Given the description of an element on the screen output the (x, y) to click on. 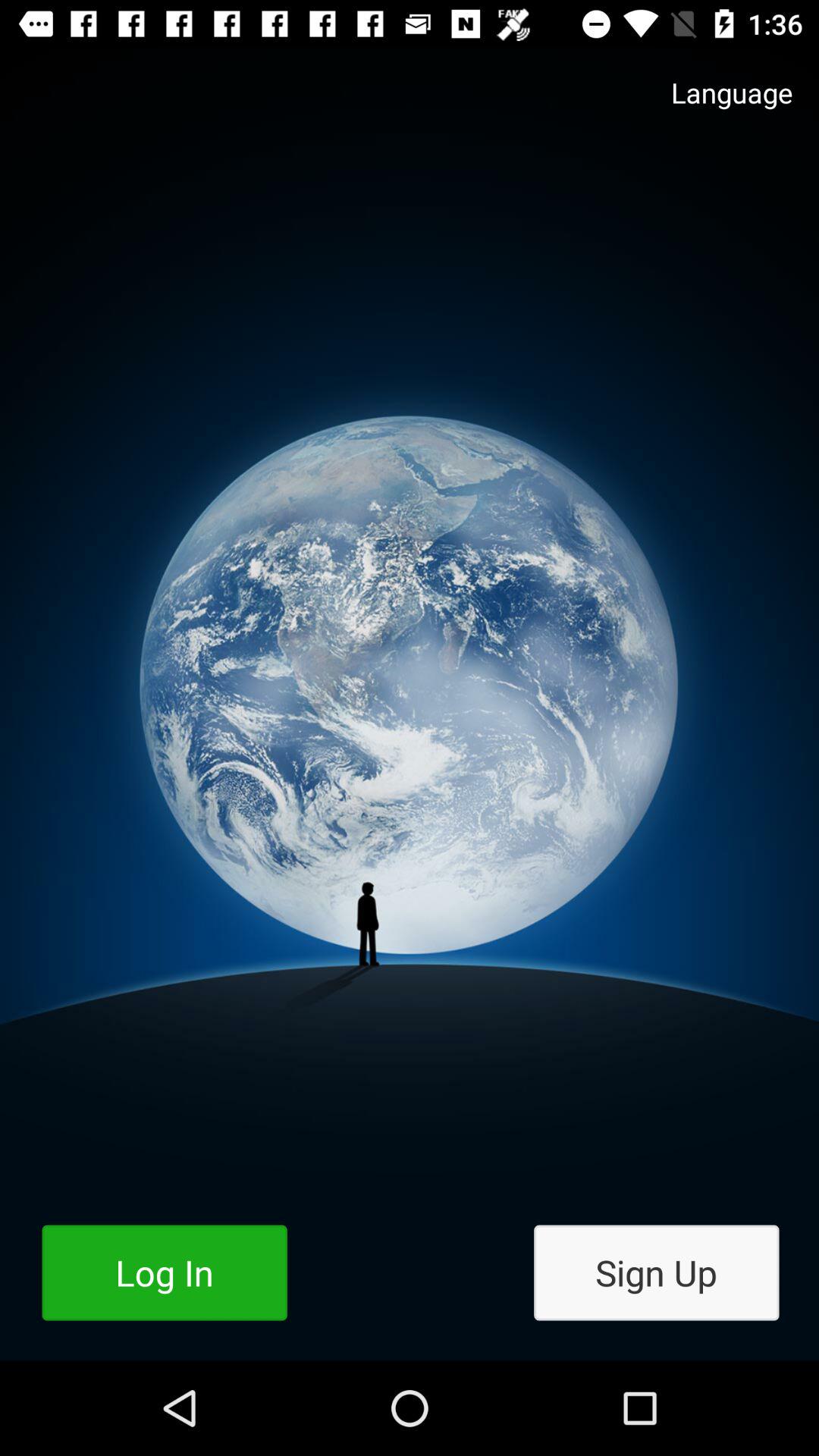
open the button next to sign up button (164, 1272)
